Given the description of an element on the screen output the (x, y) to click on. 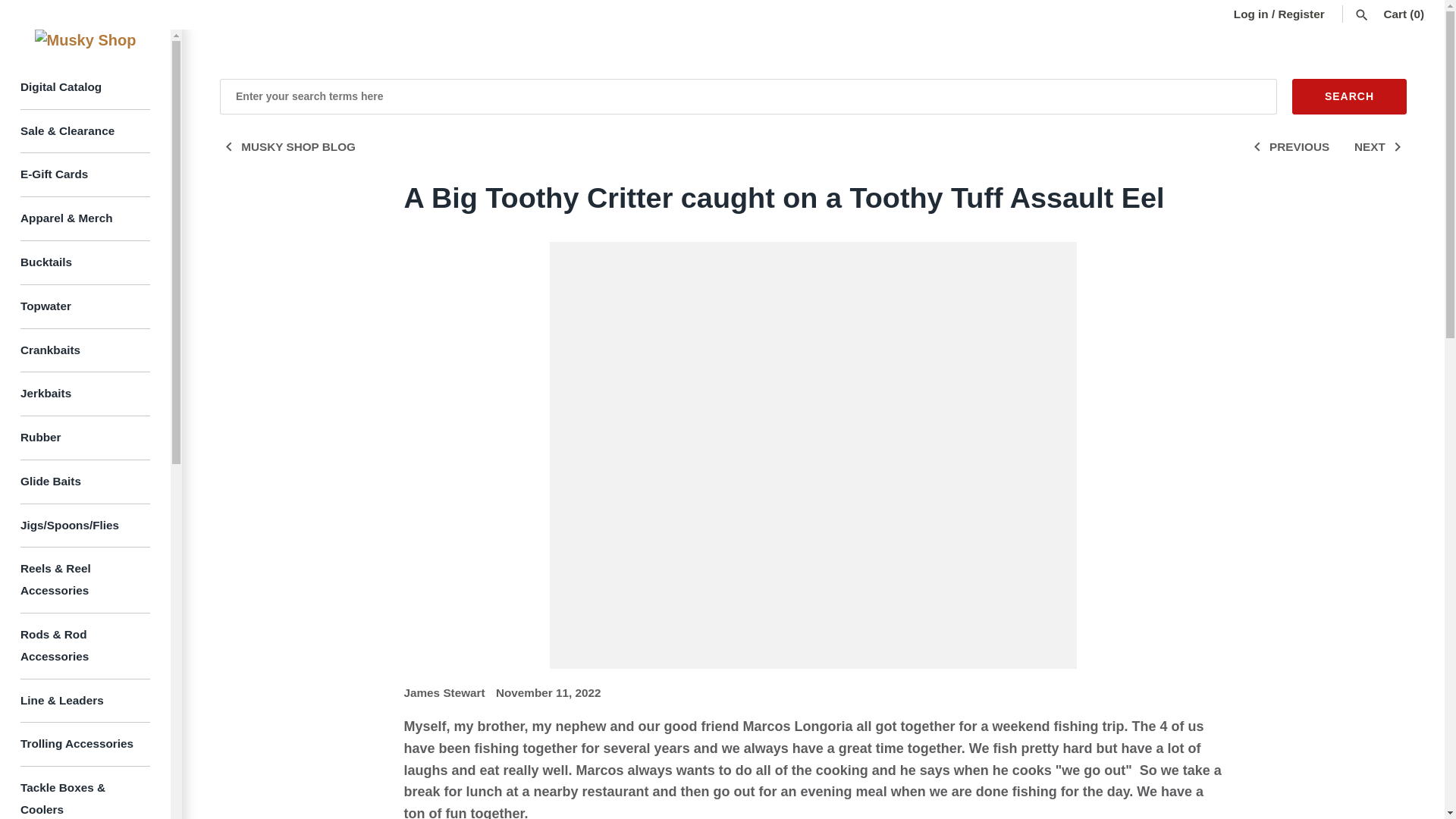
Log in (1250, 13)
Trolling Accessories (84, 744)
Jerkbaits (84, 394)
Musky Shop (85, 39)
Glide Baits (84, 482)
RIGHT (1397, 147)
Musky Shop Blog (287, 145)
E-Gift Cards (84, 175)
Bucktails (84, 262)
Register (1300, 13)
